Given the description of an element on the screen output the (x, y) to click on. 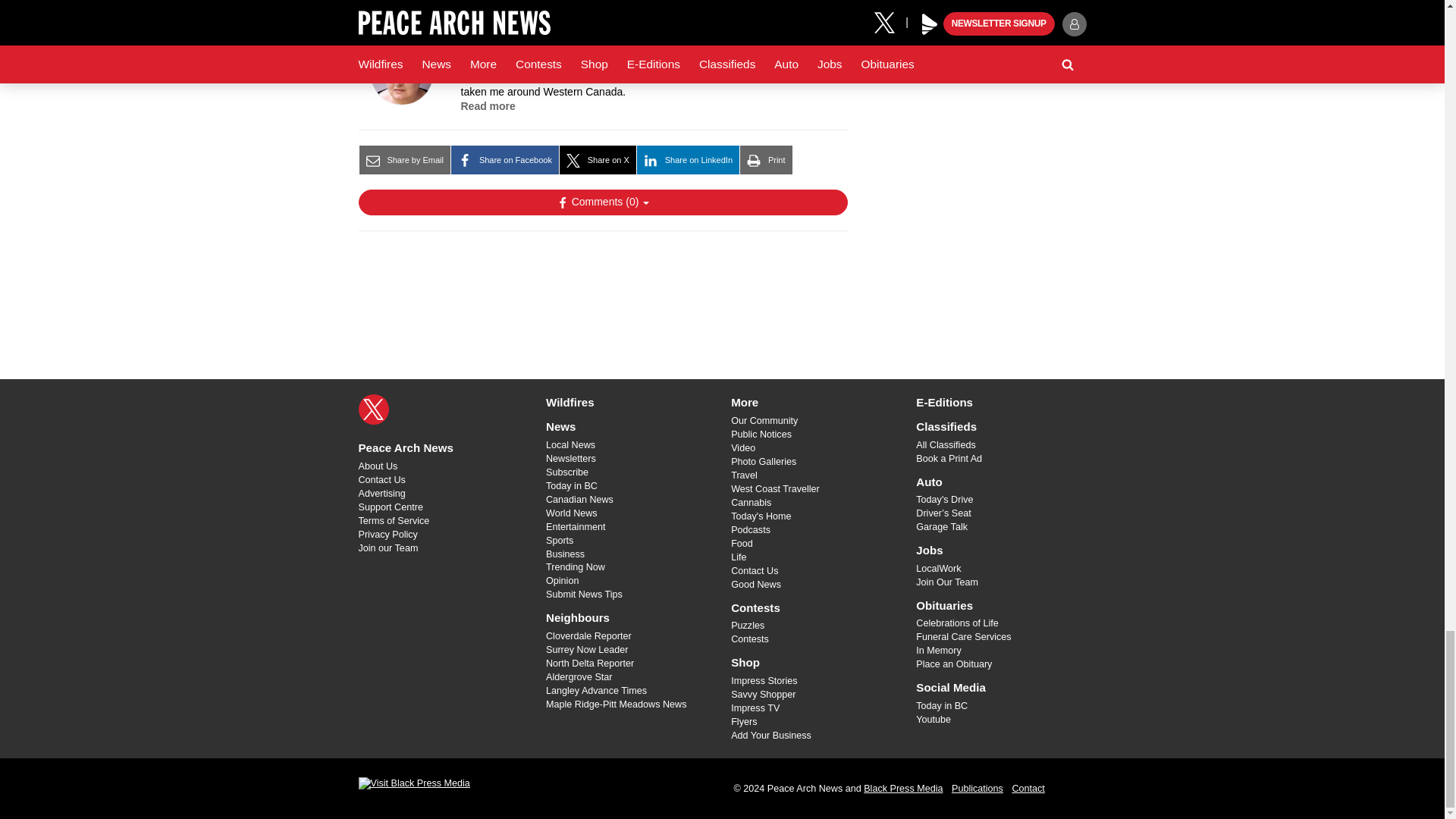
X (373, 409)
Show Comments (602, 202)
